Given the description of an element on the screen output the (x, y) to click on. 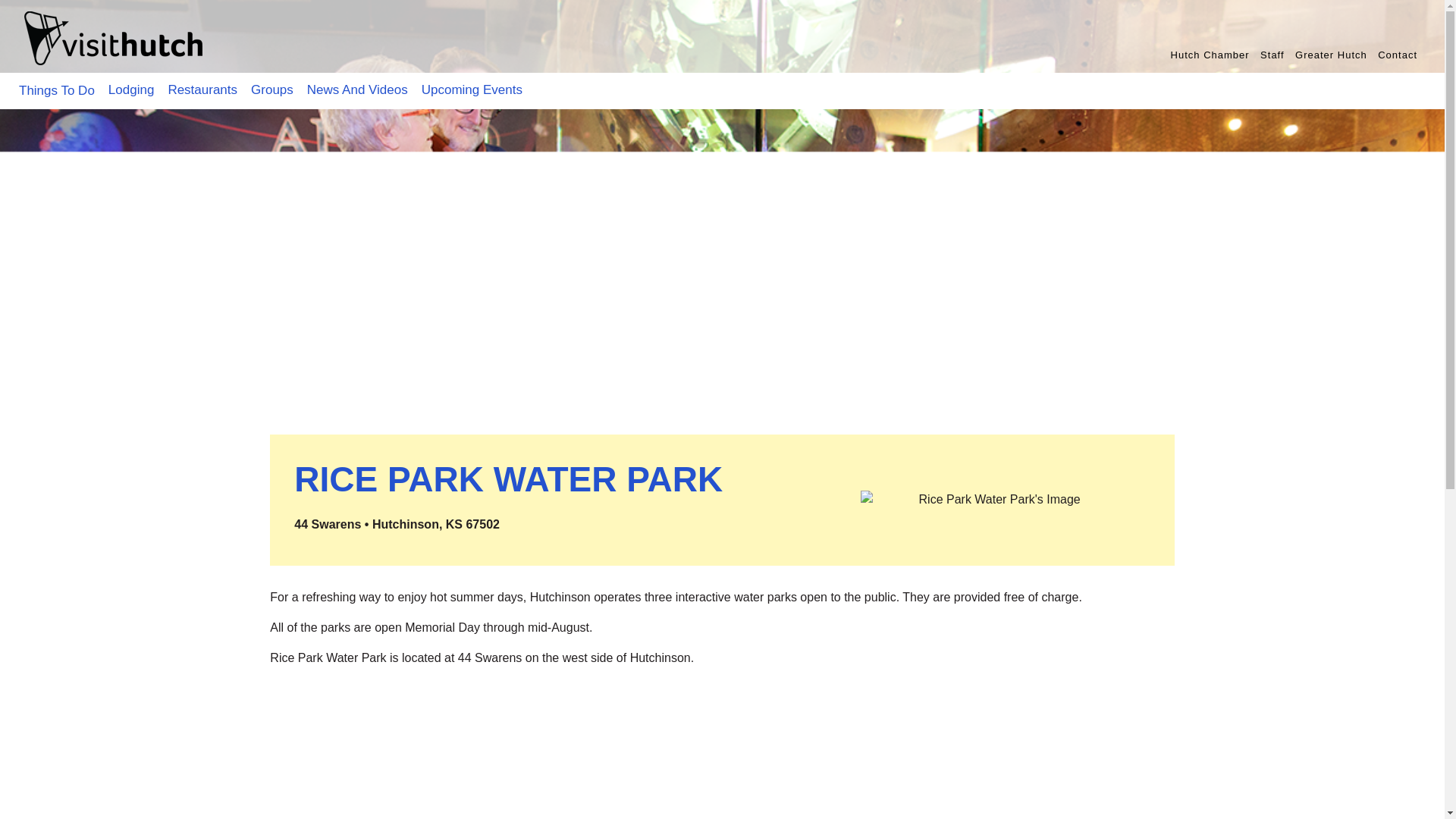
Hutch Chamber (1209, 54)
Lodging (130, 89)
News And Videos (357, 89)
Greater Hutch (1331, 54)
Things To Do (56, 90)
Groups (271, 89)
Restaurants (202, 89)
Contact (1396, 54)
Staff (1272, 54)
